Given the description of an element on the screen output the (x, y) to click on. 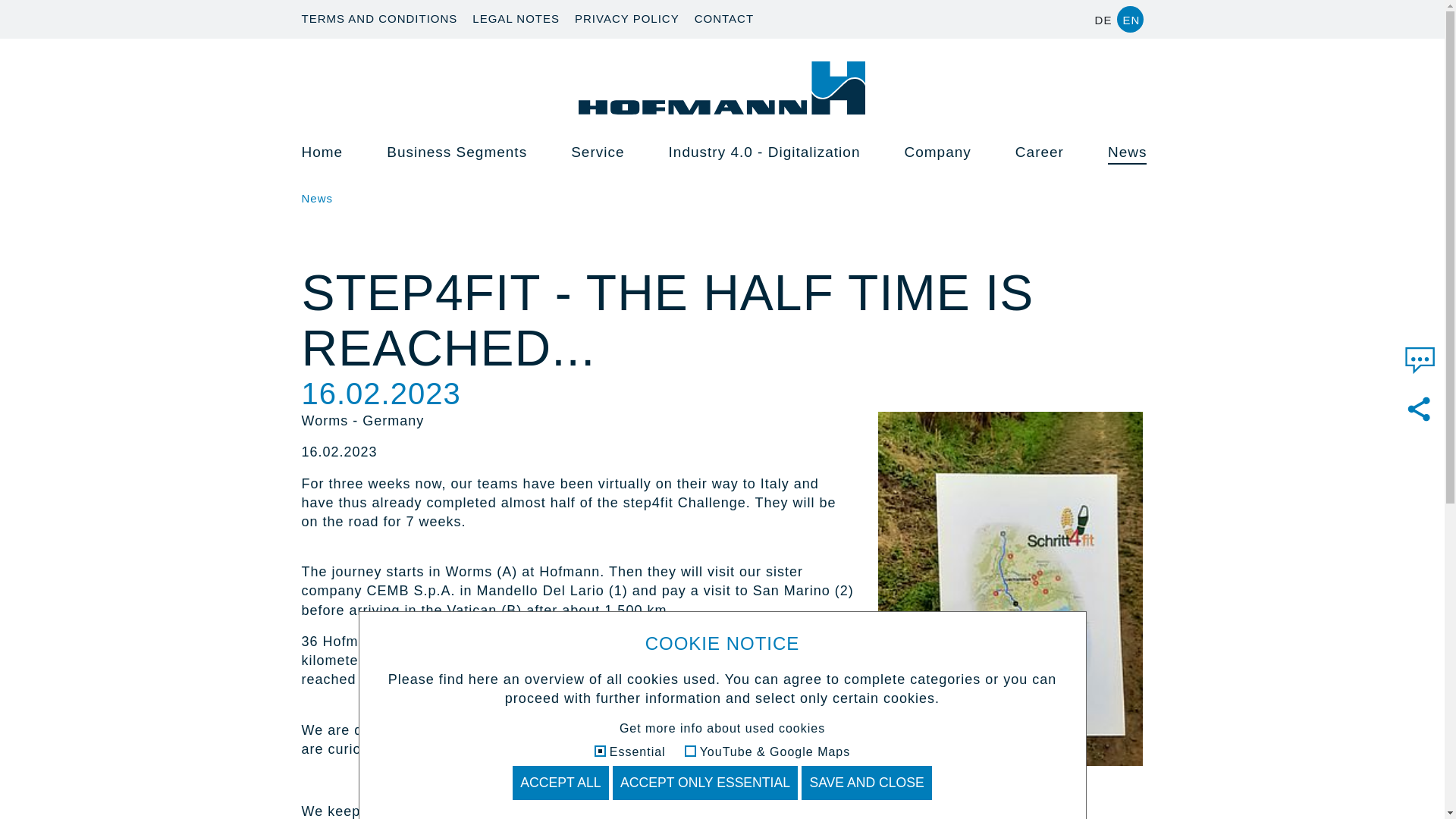
switch to EN (1129, 18)
News (317, 197)
switch to DE (1103, 18)
